Given the description of an element on the screen output the (x, y) to click on. 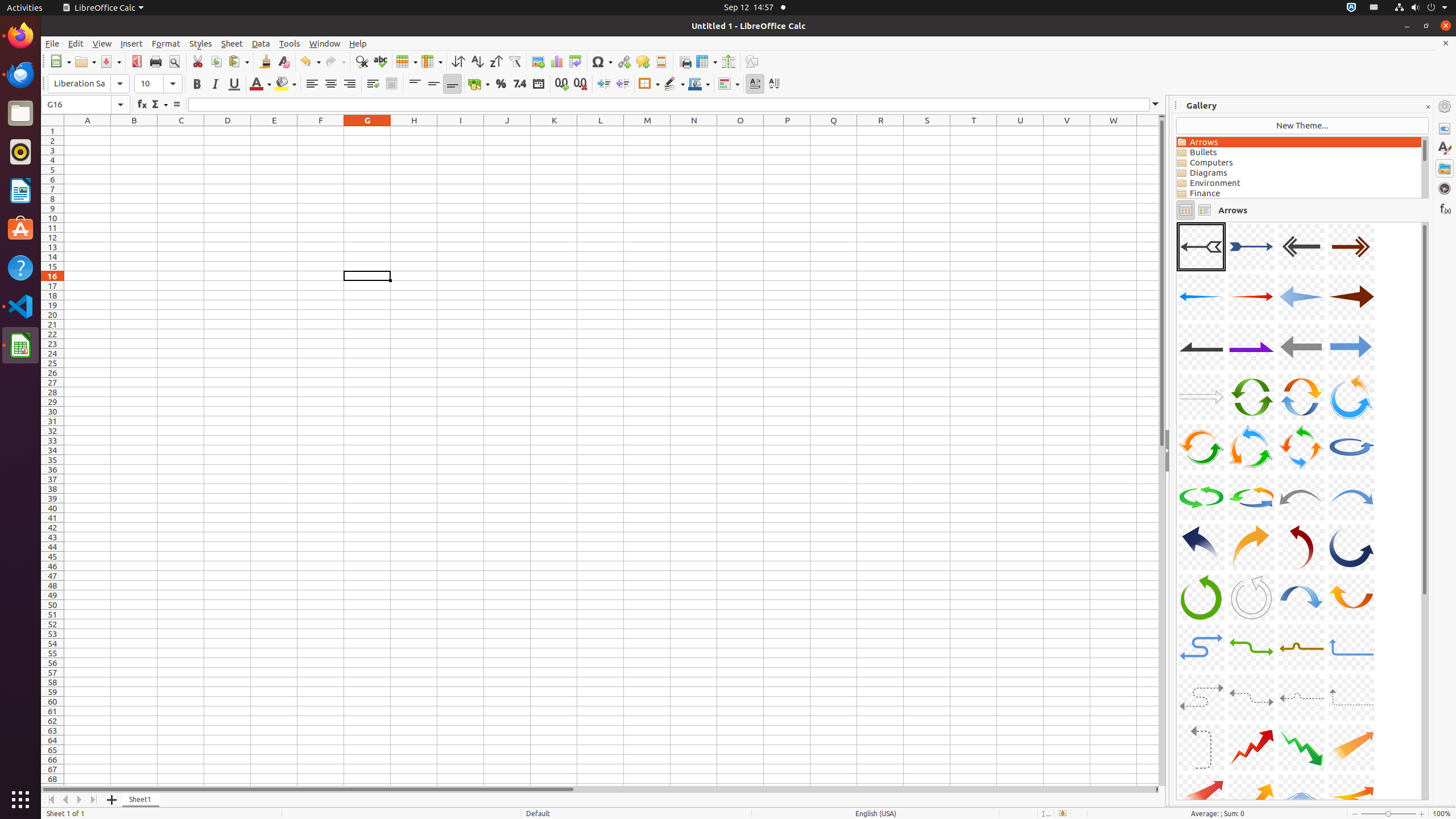
Align Left Element type: push-button (311, 83)
A20-CircleArrow-LightBlue Element type: list-item (1350, 446)
A18-CircleArrow Element type: list-item (1250, 446)
Window Element type: menu (324, 43)
Function Wizard Element type: push-button (141, 104)
